Given the description of an element on the screen output the (x, y) to click on. 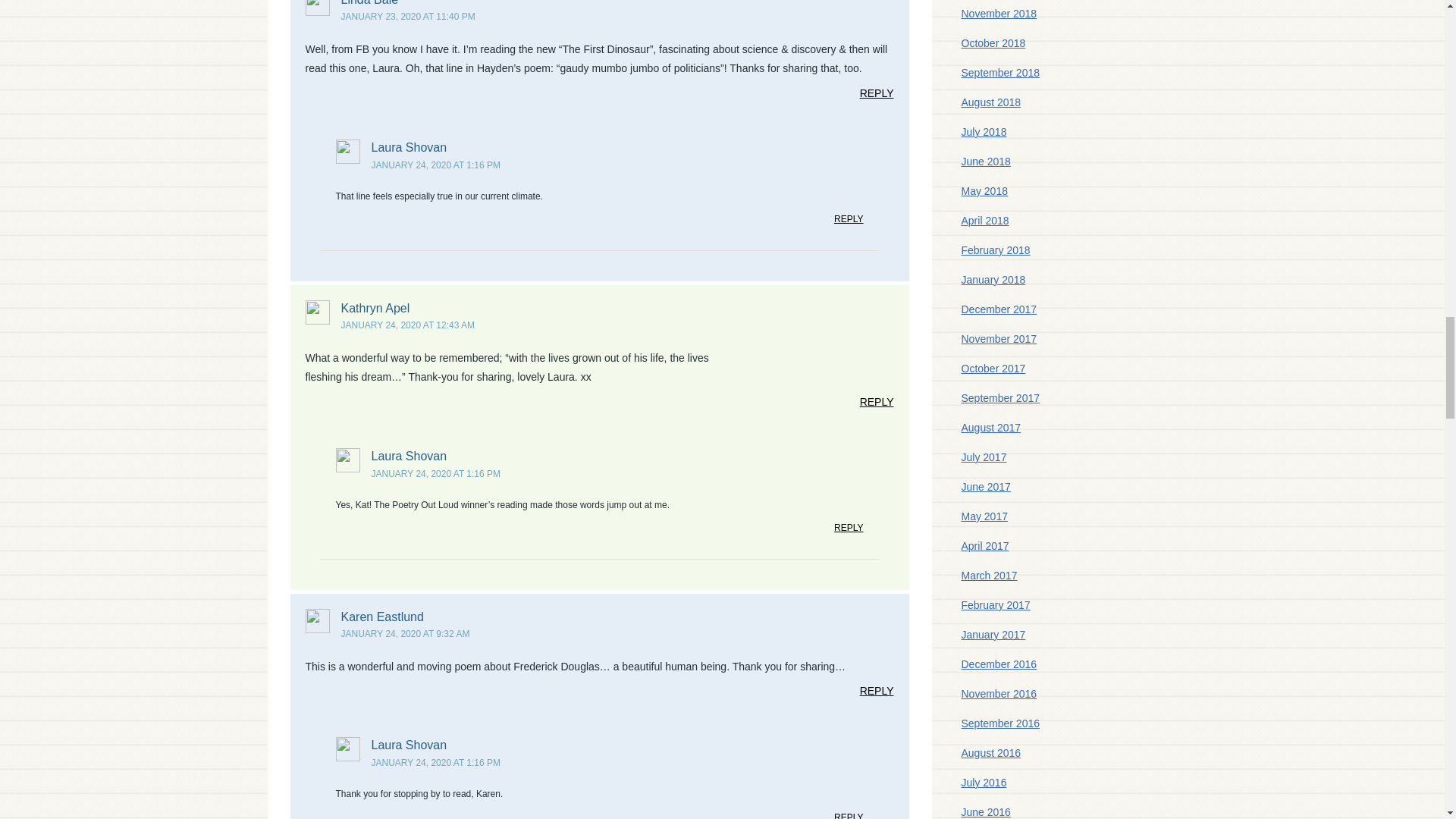
JANUARY 24, 2020 AT 12:43 AM (408, 325)
REPLY (876, 96)
REPLY (848, 222)
Linda Baie (369, 2)
JANUARY 24, 2020 AT 1:16 PM (435, 164)
REPLY (848, 531)
Kathryn Apel (375, 308)
JANUARY 24, 2020 AT 1:16 PM (435, 473)
JANUARY 23, 2020 AT 11:40 PM (408, 16)
REPLY (876, 405)
